Given the description of an element on the screen output the (x, y) to click on. 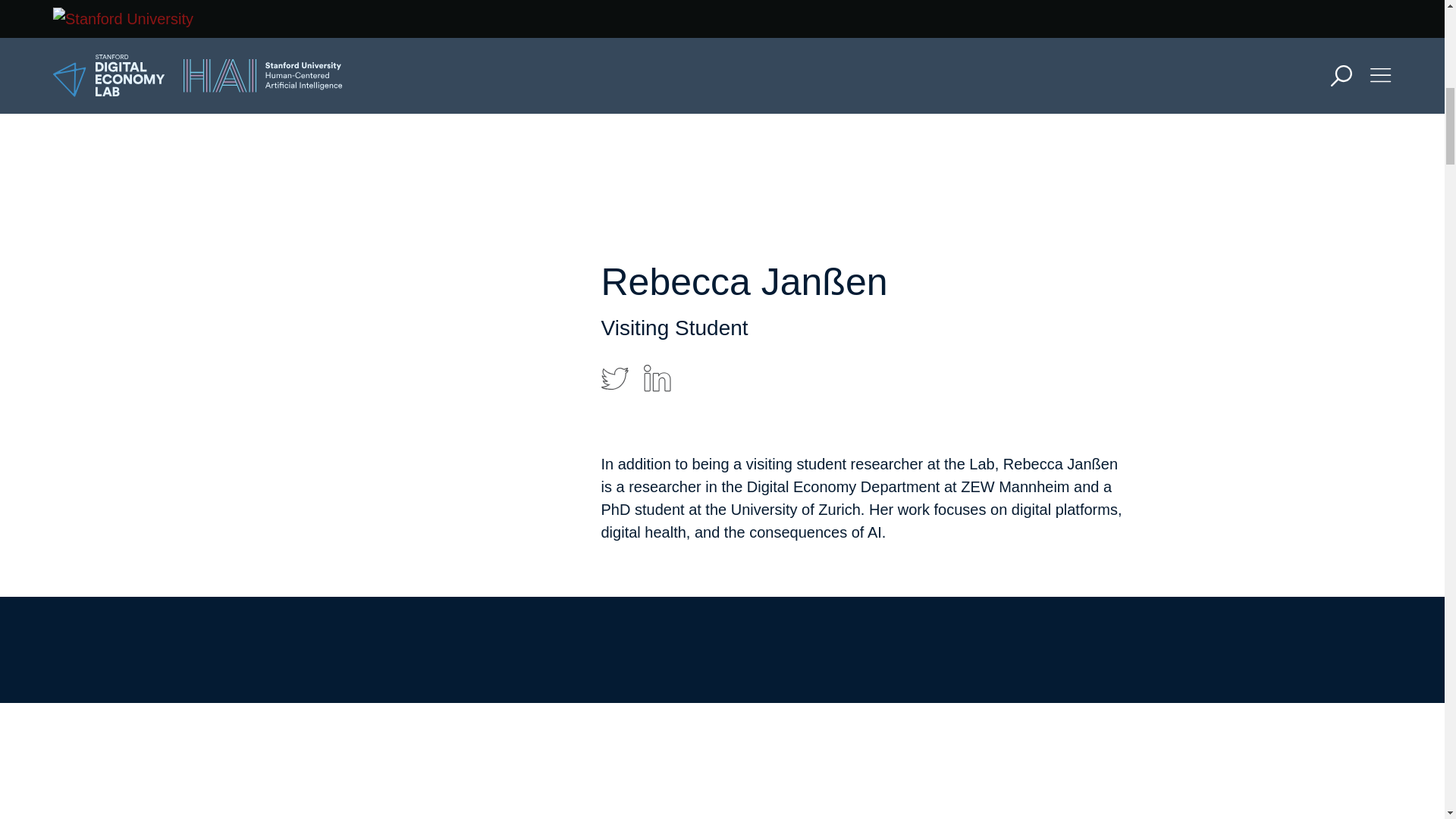
People (694, 290)
Twitter (670, 389)
News (686, 247)
twitter (613, 378)
YouTube (754, 389)
About (688, 71)
linkedin (656, 378)
Back to People (670, 629)
Contact (697, 334)
Research (708, 114)
